Given the description of an element on the screen output the (x, y) to click on. 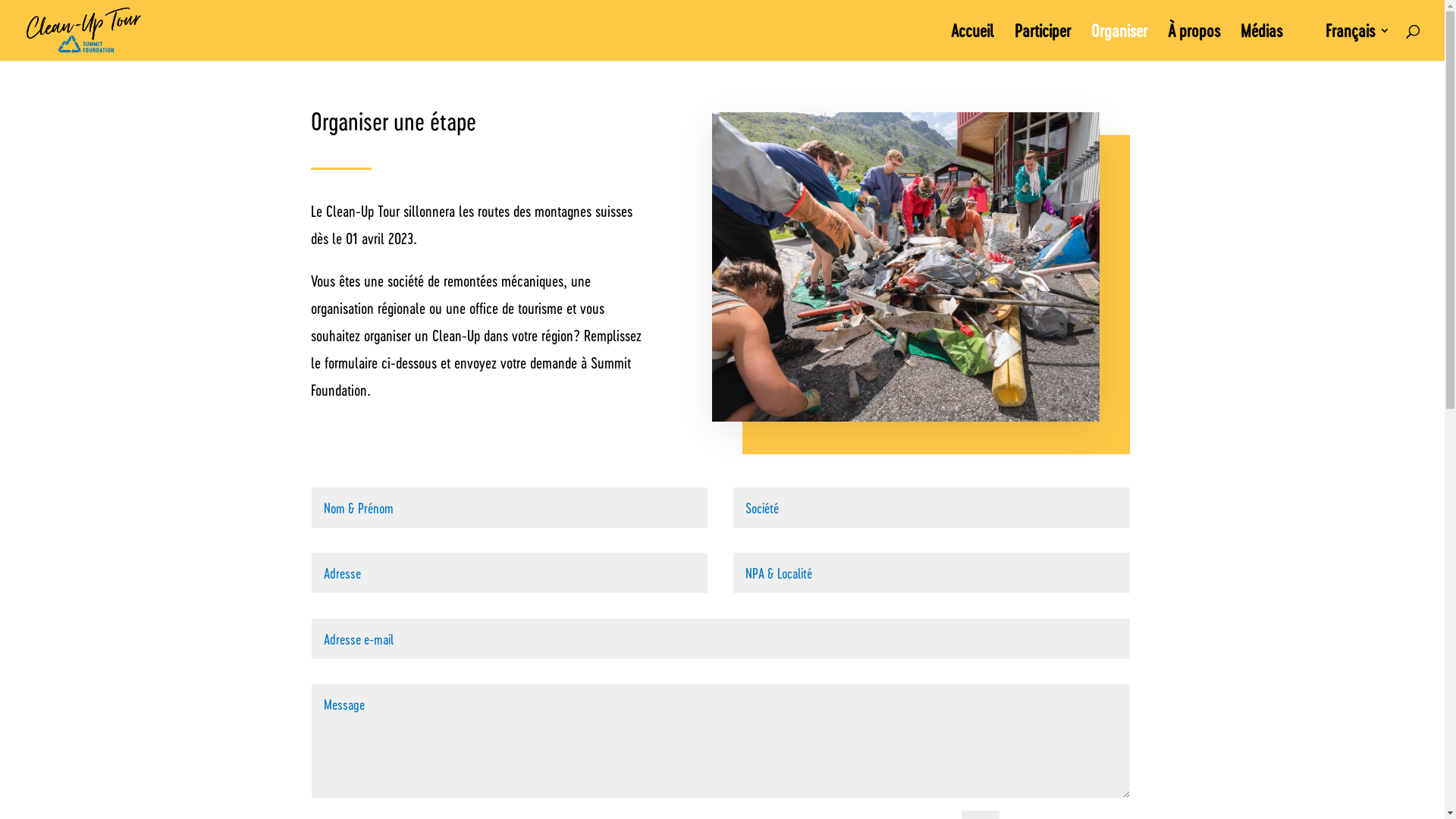
Participer Element type: text (1042, 42)
Accueil Element type: text (972, 42)
Organiser Element type: text (1119, 42)
